Given the description of an element on the screen output the (x, y) to click on. 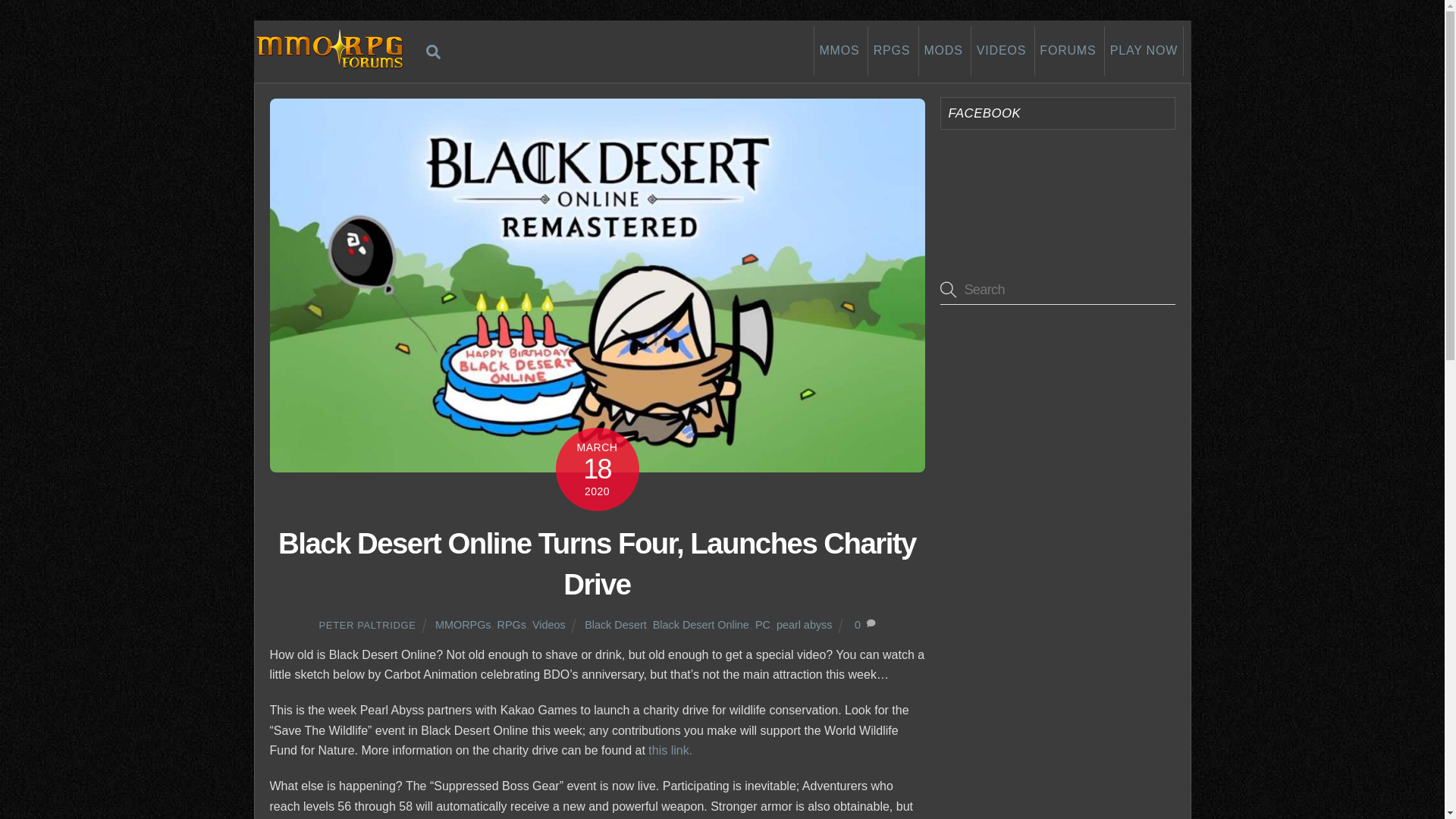
Search (433, 51)
RPGs (511, 624)
MMOS (838, 51)
PLAY NOW (722, 51)
RPGS (1143, 51)
pearl abyss (890, 51)
Black Desert Online (804, 624)
Black Desert (700, 624)
Black Desert Online Turns Four, Launches Charity Drive (615, 624)
